Given the description of an element on the screen output the (x, y) to click on. 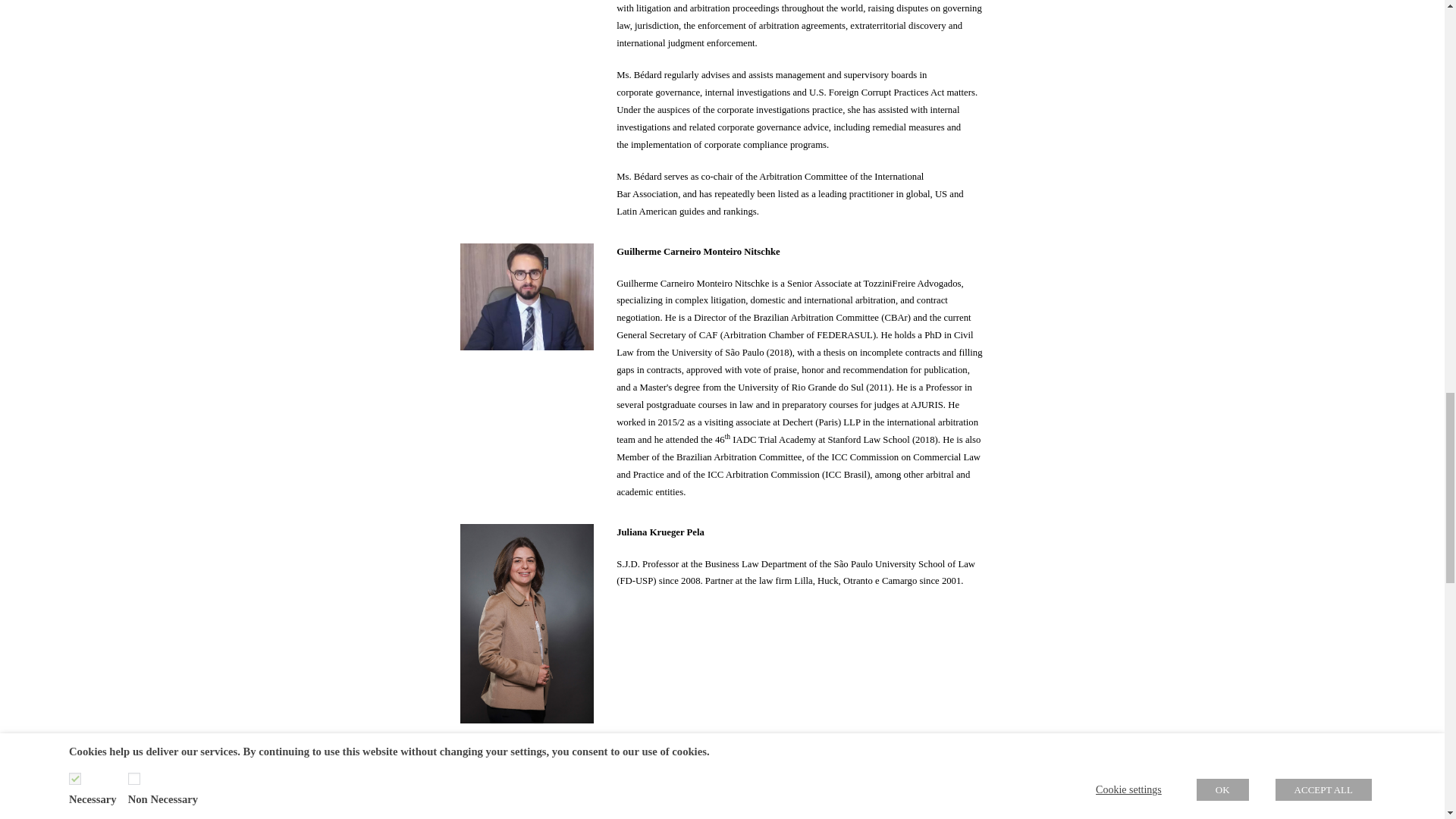
Fernando Eduardo Serec (527, 782)
Guilherme Carneiro Monteiro Nitschke (527, 297)
